Given the description of an element on the screen output the (x, y) to click on. 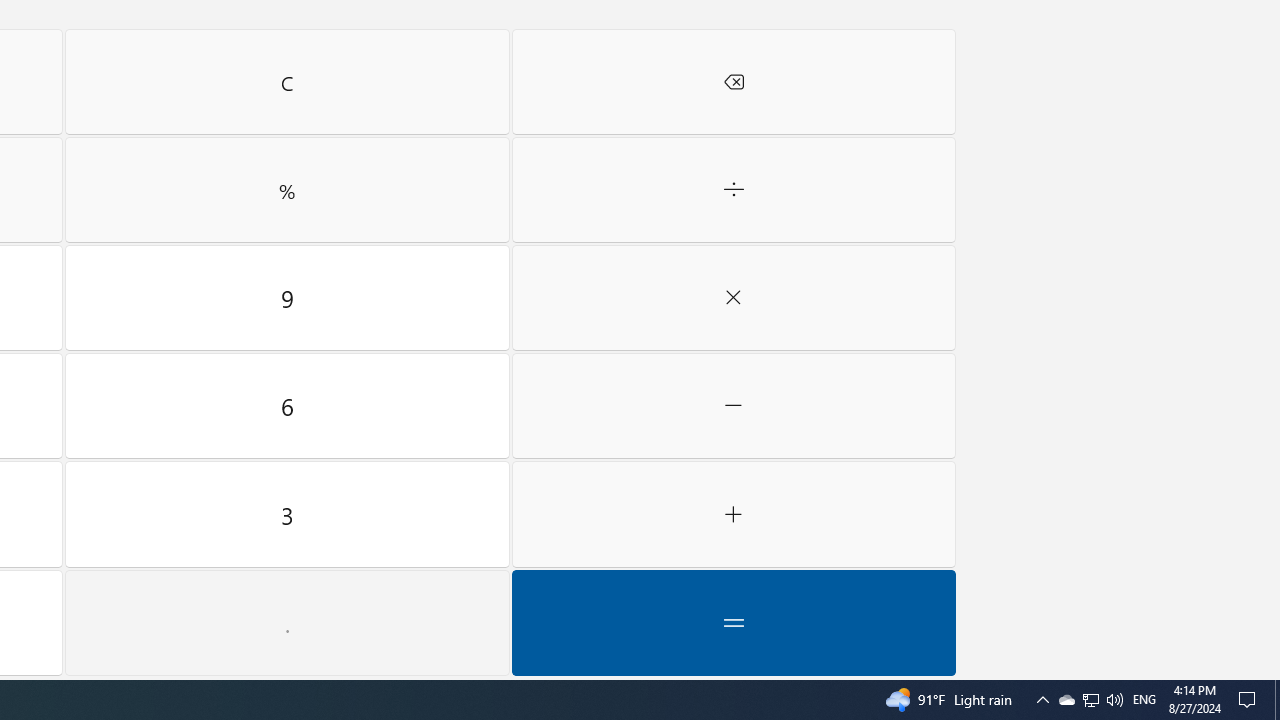
Plus (1091, 699)
Notification Chevron (734, 514)
Divide by (1042, 699)
Multiply by (734, 189)
Six (734, 297)
Three (287, 405)
Nine (1066, 699)
Backspace (287, 514)
Decimal separator (287, 297)
User Promoted Notification Area (734, 81)
Action Center, No new notifications (287, 623)
